Given the description of an element on the screen output the (x, y) to click on. 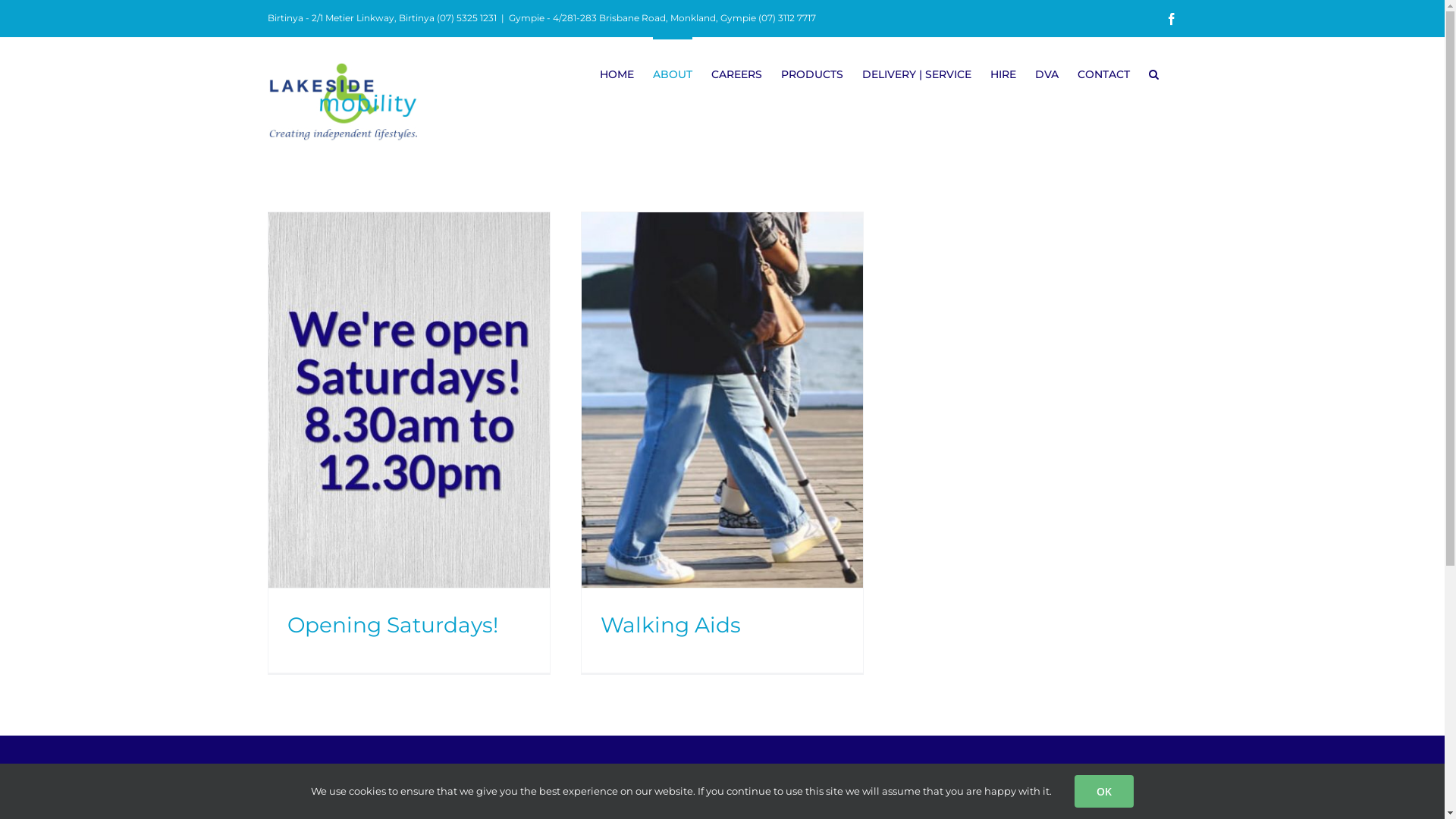
HOME Element type: text (616, 72)
CONTACT Element type: text (1102, 72)
Opening Saturdays! Element type: text (391, 624)
Walking Aids Element type: text (670, 624)
PRODUCTS Element type: text (812, 72)
OK Element type: text (1103, 791)
CAREERS Element type: text (736, 72)
Search Element type: hover (1152, 72)
Facebook Element type: text (1170, 18)
ABOUT Element type: text (671, 72)
HIRE Element type: text (1003, 72)
DVA Element type: text (1045, 72)
DELIVERY | SERVICE Element type: text (915, 72)
